Given the description of an element on the screen output the (x, y) to click on. 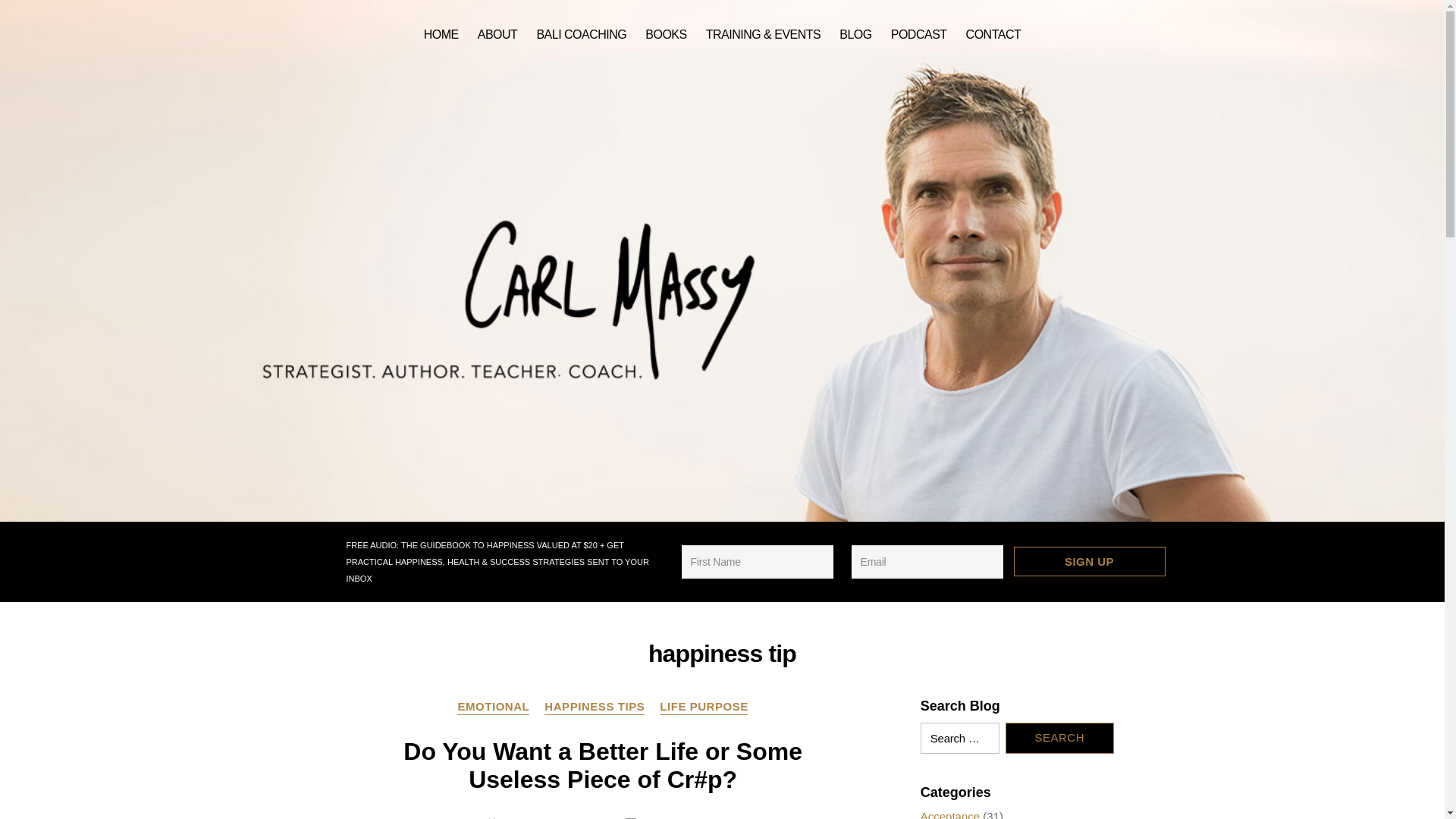
HAPPINESS TIPS (594, 707)
Search (1059, 737)
EMOTIONAL (493, 707)
ABOUT (497, 34)
SIGN UP (1088, 561)
BLOG (855, 34)
HOME (440, 34)
LIFE PURPOSE (703, 707)
Search (1059, 737)
BALI COACHING (580, 34)
CONTACT (994, 34)
BOOKS (665, 34)
PODCAST (919, 34)
